Given the description of an element on the screen output the (x, y) to click on. 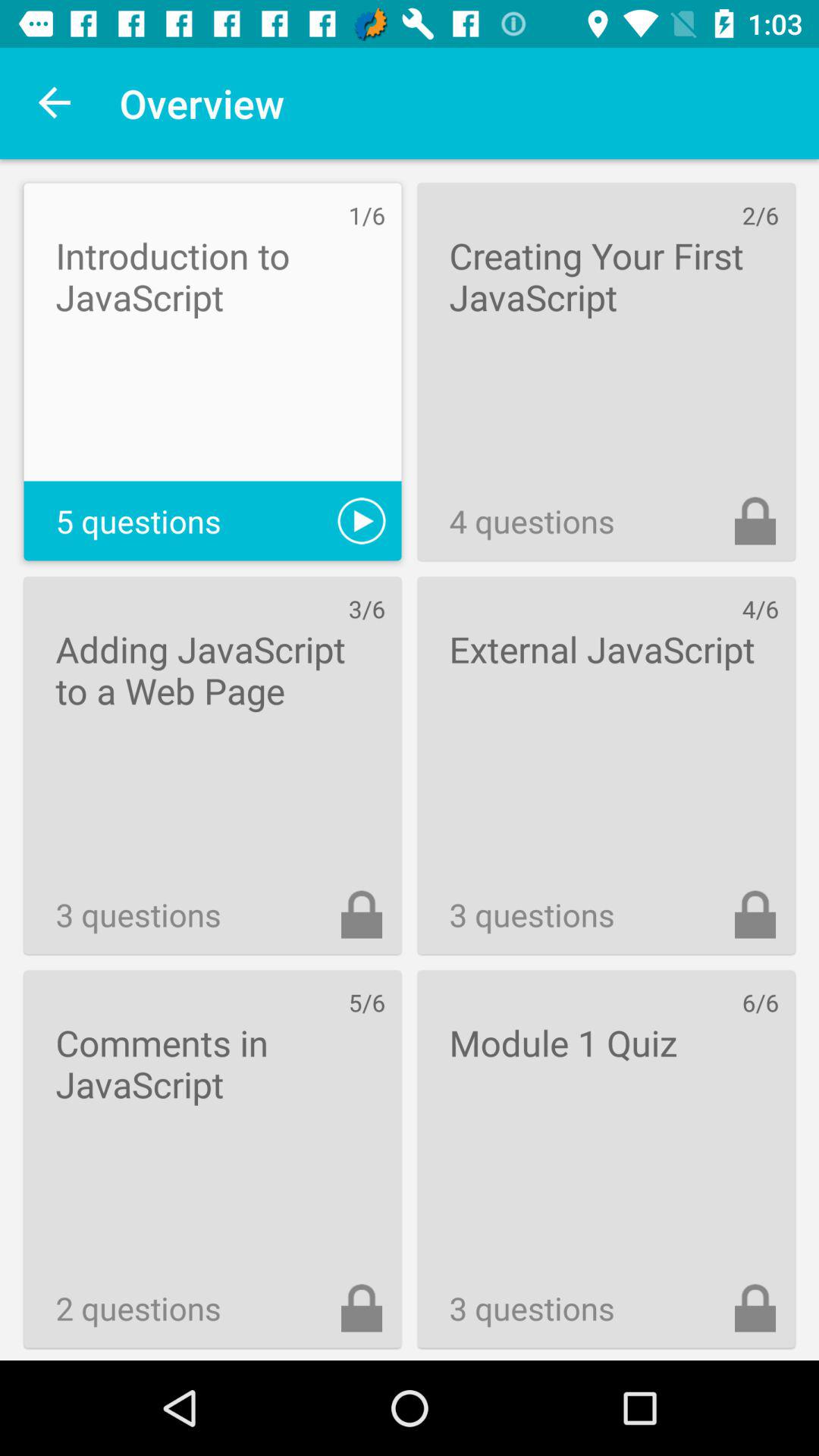
turn off the item next to overview item (55, 103)
